Given the description of an element on the screen output the (x, y) to click on. 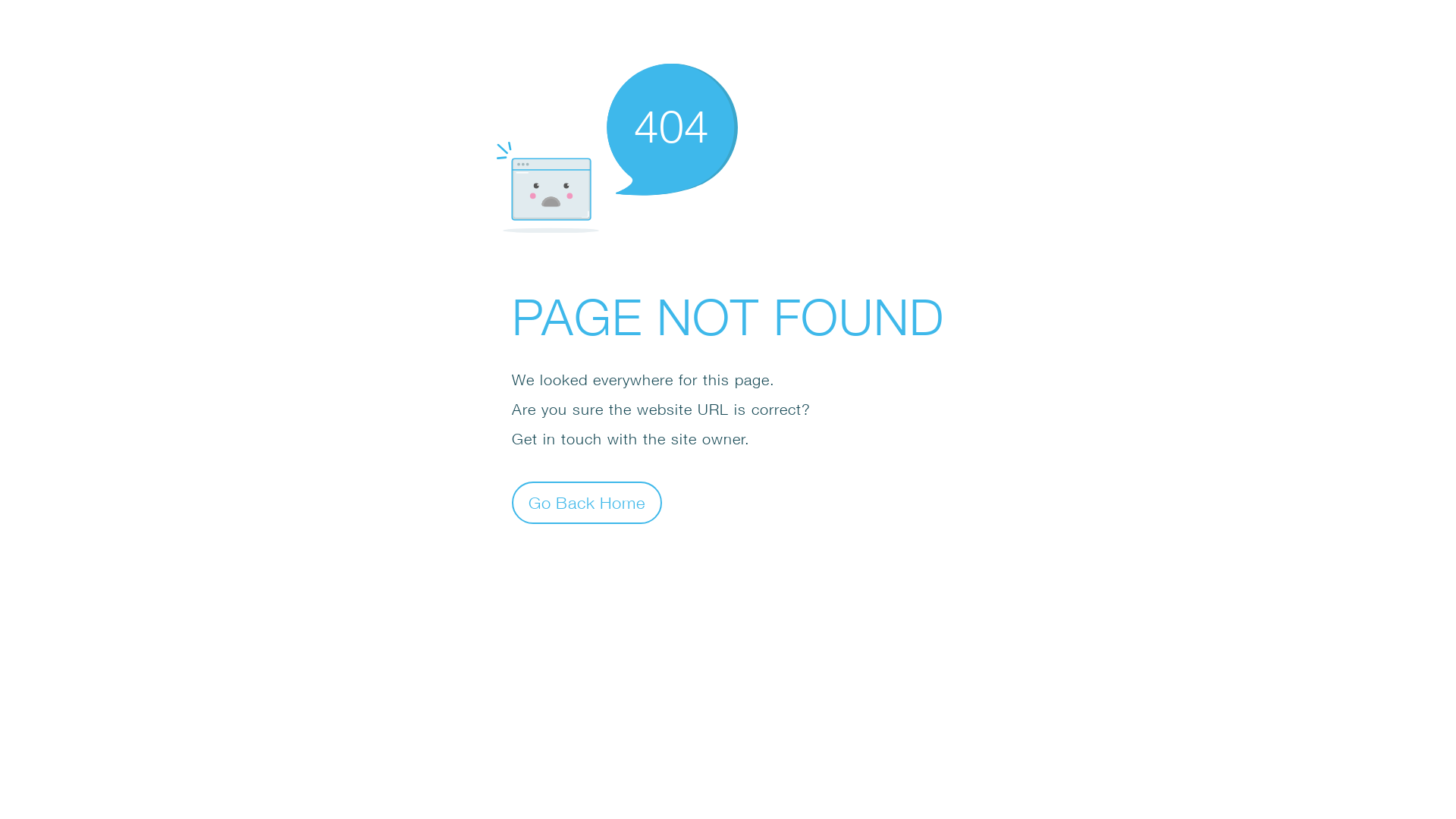
Go Back Home Element type: text (586, 502)
